Given the description of an element on the screen output the (x, y) to click on. 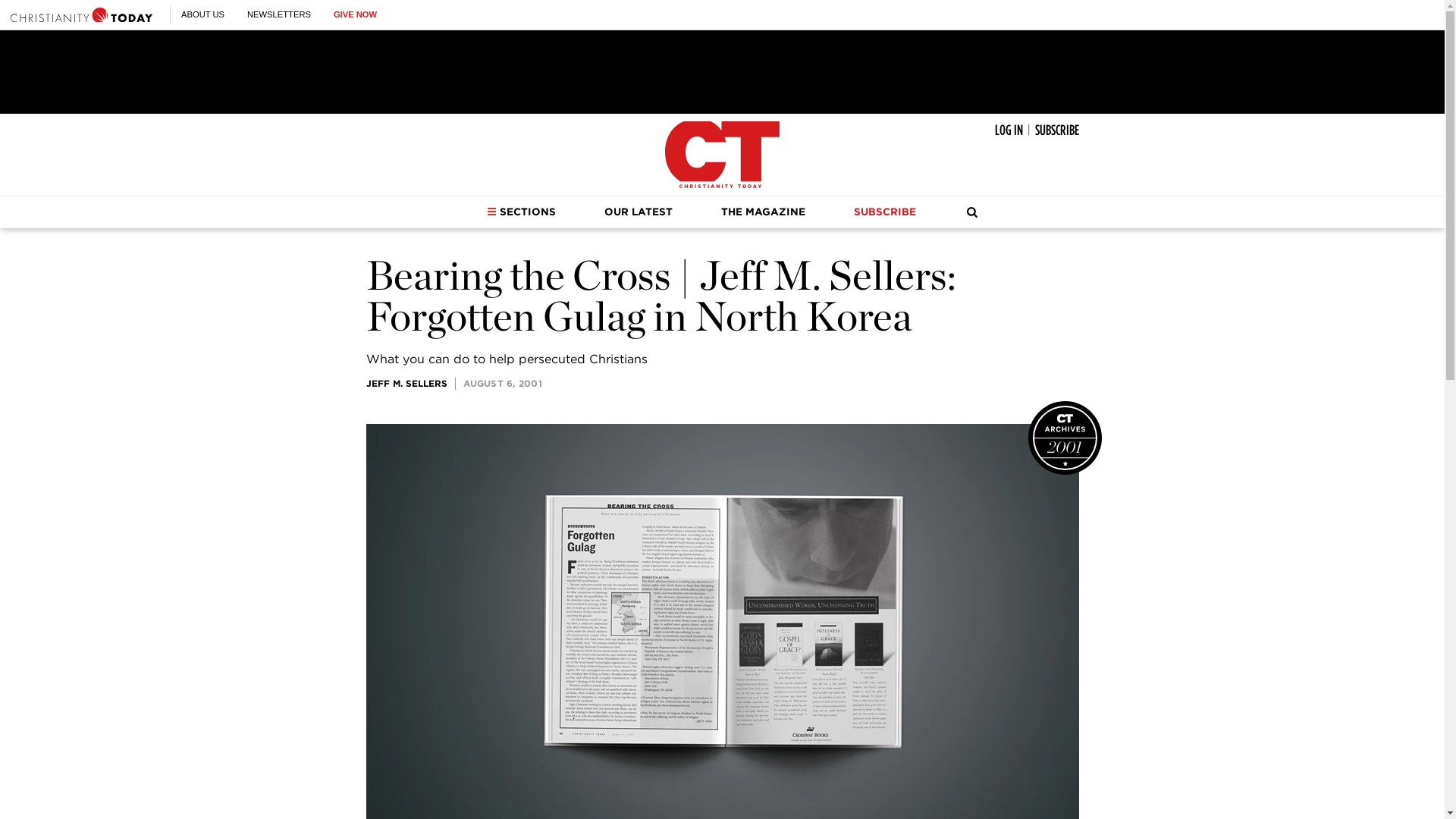
SUBSCRIBE (1055, 130)
Christianity Today (81, 14)
NEWSLETTERS (278, 14)
Sections Dropdown (491, 211)
3rd party ad content (721, 71)
Christianity Today (721, 154)
ABOUT US (202, 14)
SECTIONS (521, 212)
GIVE NOW (355, 14)
LOG IN (1008, 130)
